Given the description of an element on the screen output the (x, y) to click on. 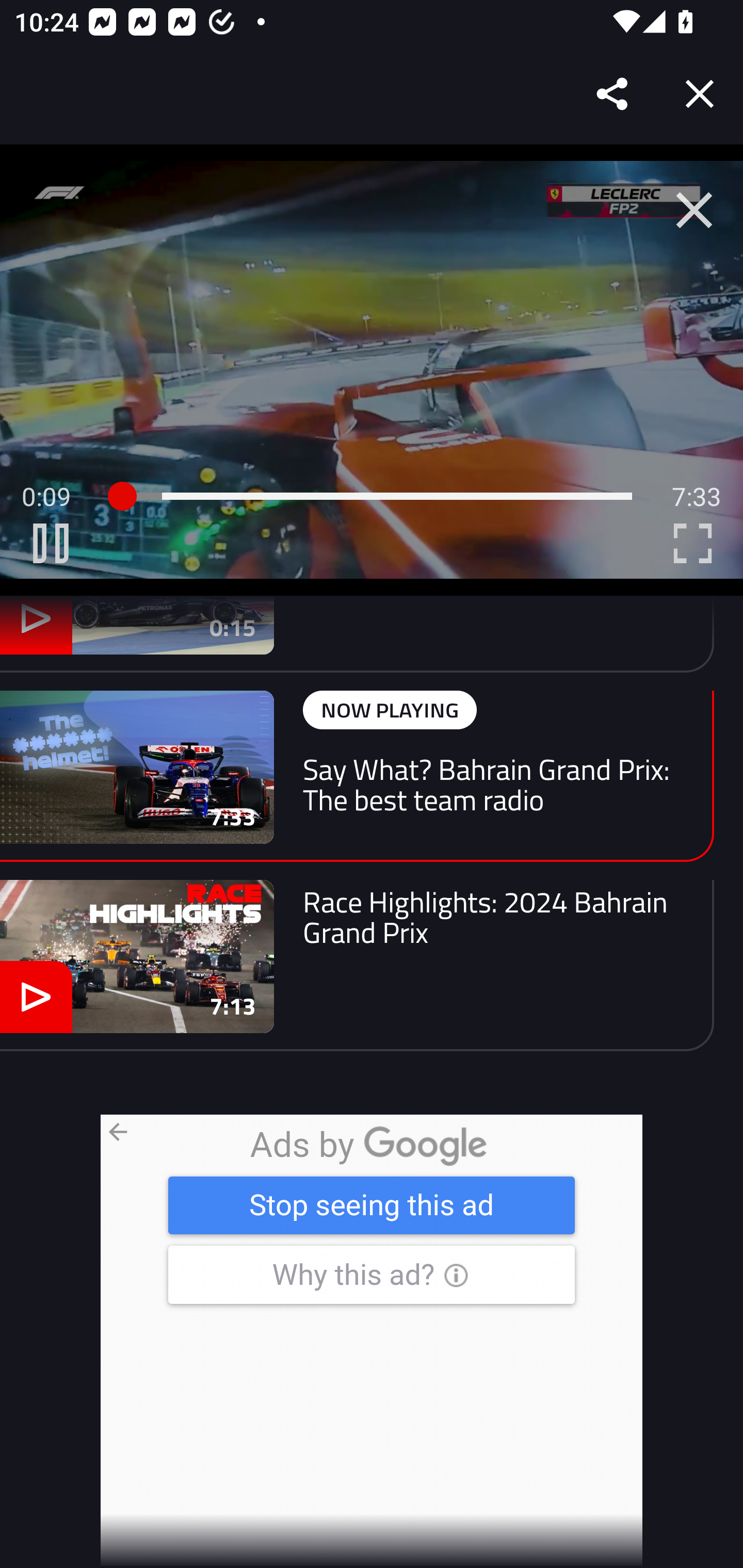
Share (612, 93)
Close (699, 93)
 Close (693, 210)
B Pause (50, 543)
C Enter Fullscreen (692, 543)
7:13 Race Highlights: 2024 Bahrain Grand Prix (357, 964)
